Given the description of an element on the screen output the (x, y) to click on. 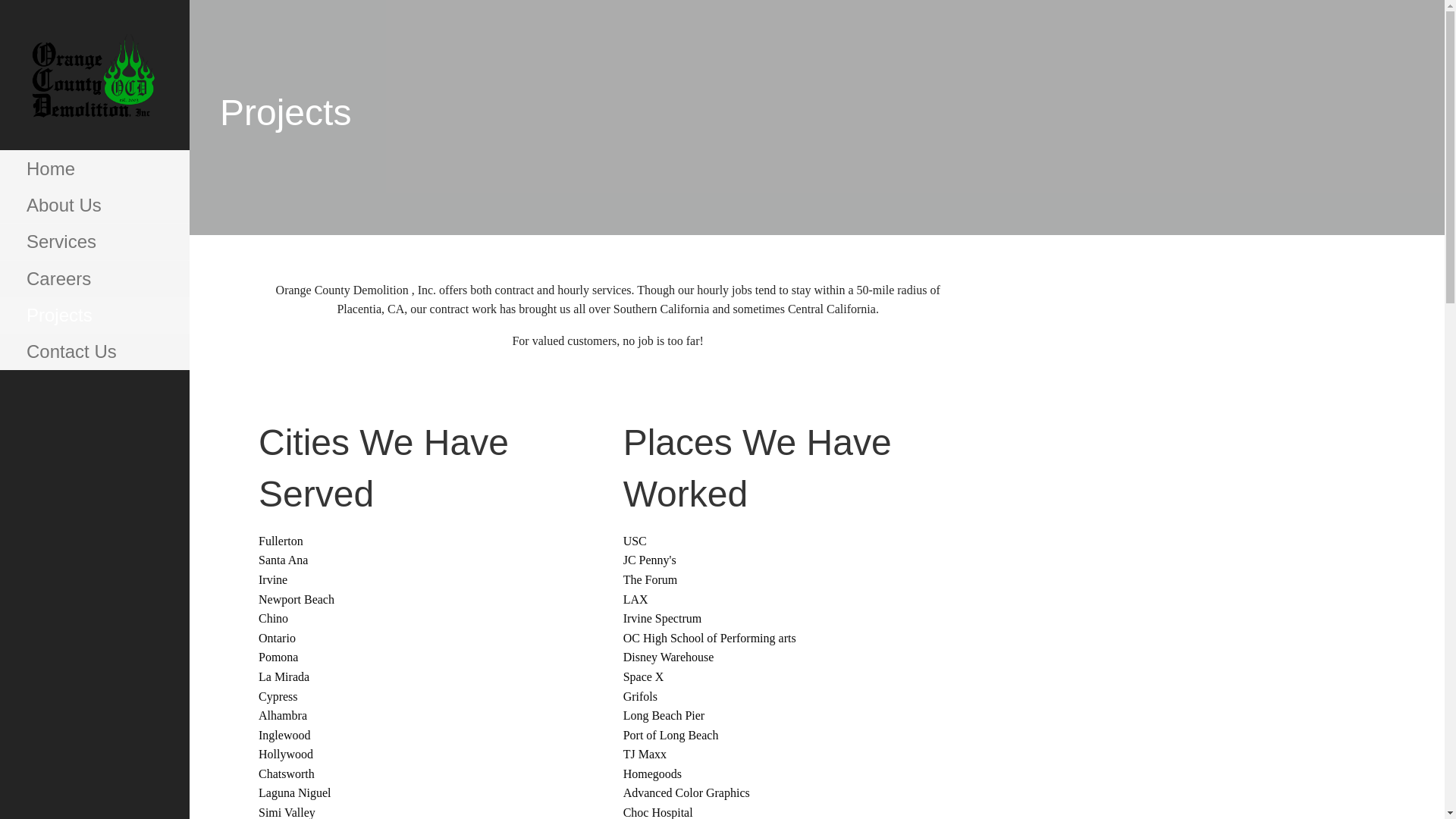
Careers (94, 279)
Services (94, 241)
Contact Us (94, 351)
Home (94, 168)
About Us (94, 205)
Projects (94, 315)
